Given the description of an element on the screen output the (x, y) to click on. 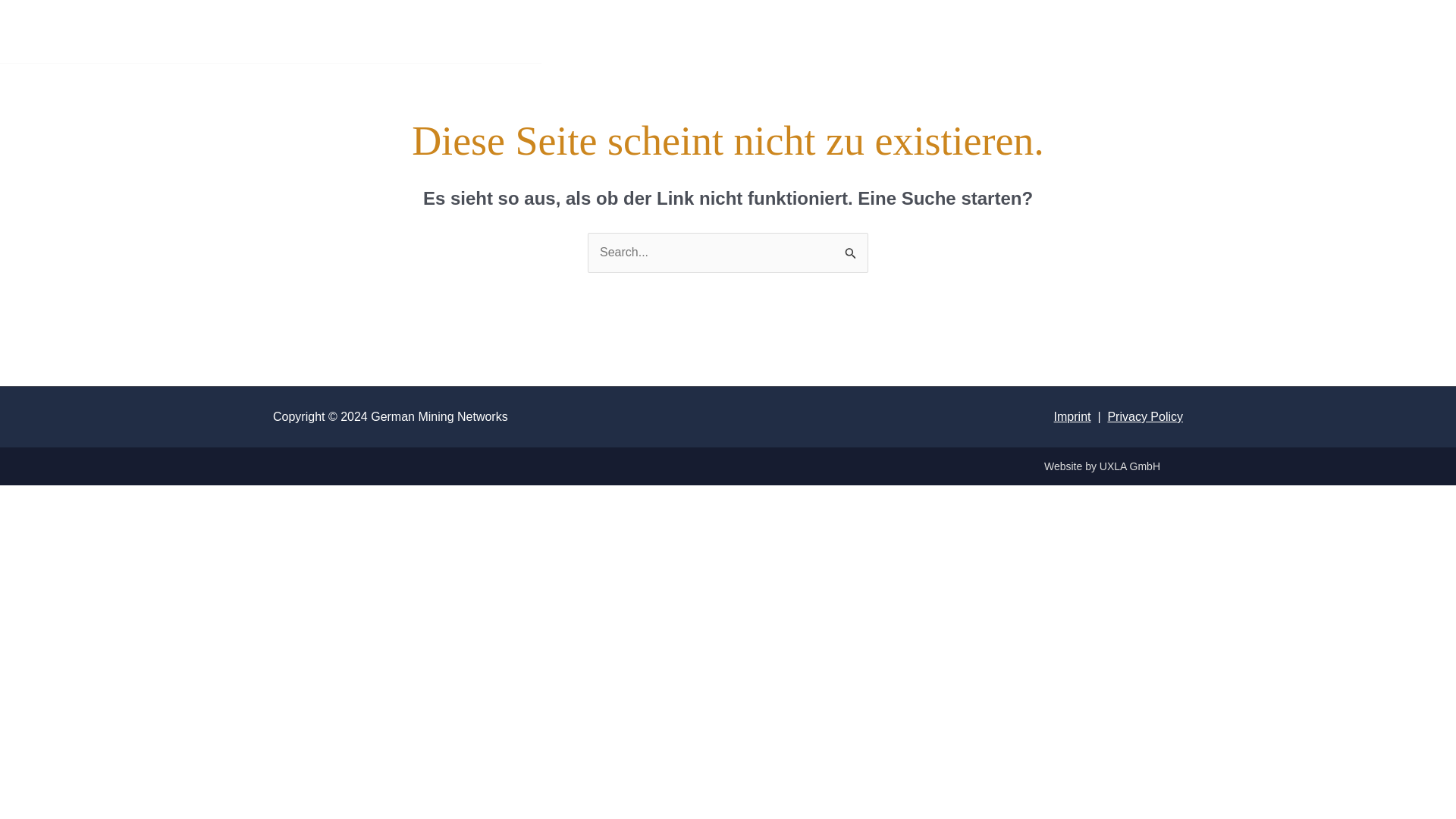
Website by UXLA GmbH (1101, 466)
Our Philospohy (457, 31)
Suche (850, 248)
What we do (210, 31)
Suche (850, 248)
Privacy Policy (1144, 416)
Imprint (1072, 416)
Suche (850, 248)
